Given the description of an element on the screen output the (x, y) to click on. 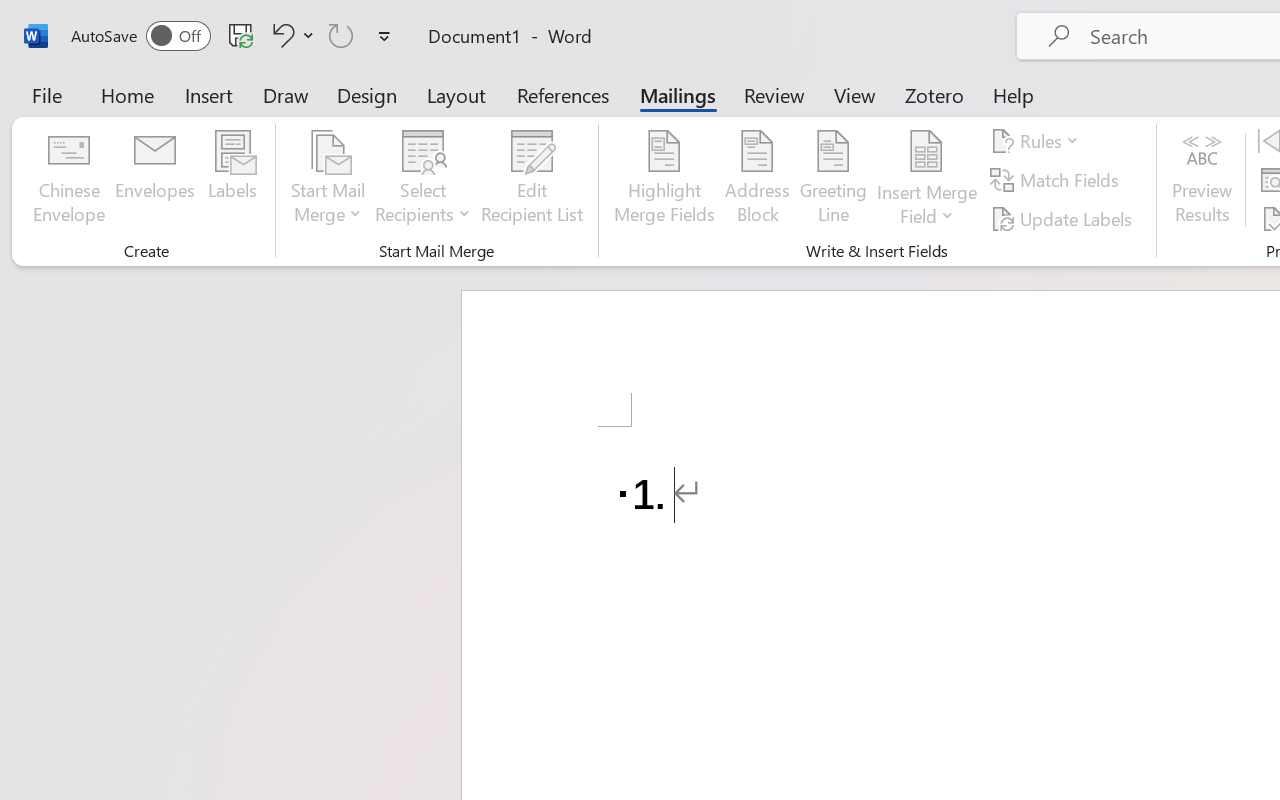
Select Recipients (423, 179)
Repeat Doc Close (341, 35)
Edit Recipient List... (532, 179)
Match Fields... (1057, 179)
